Given the description of an element on the screen output the (x, y) to click on. 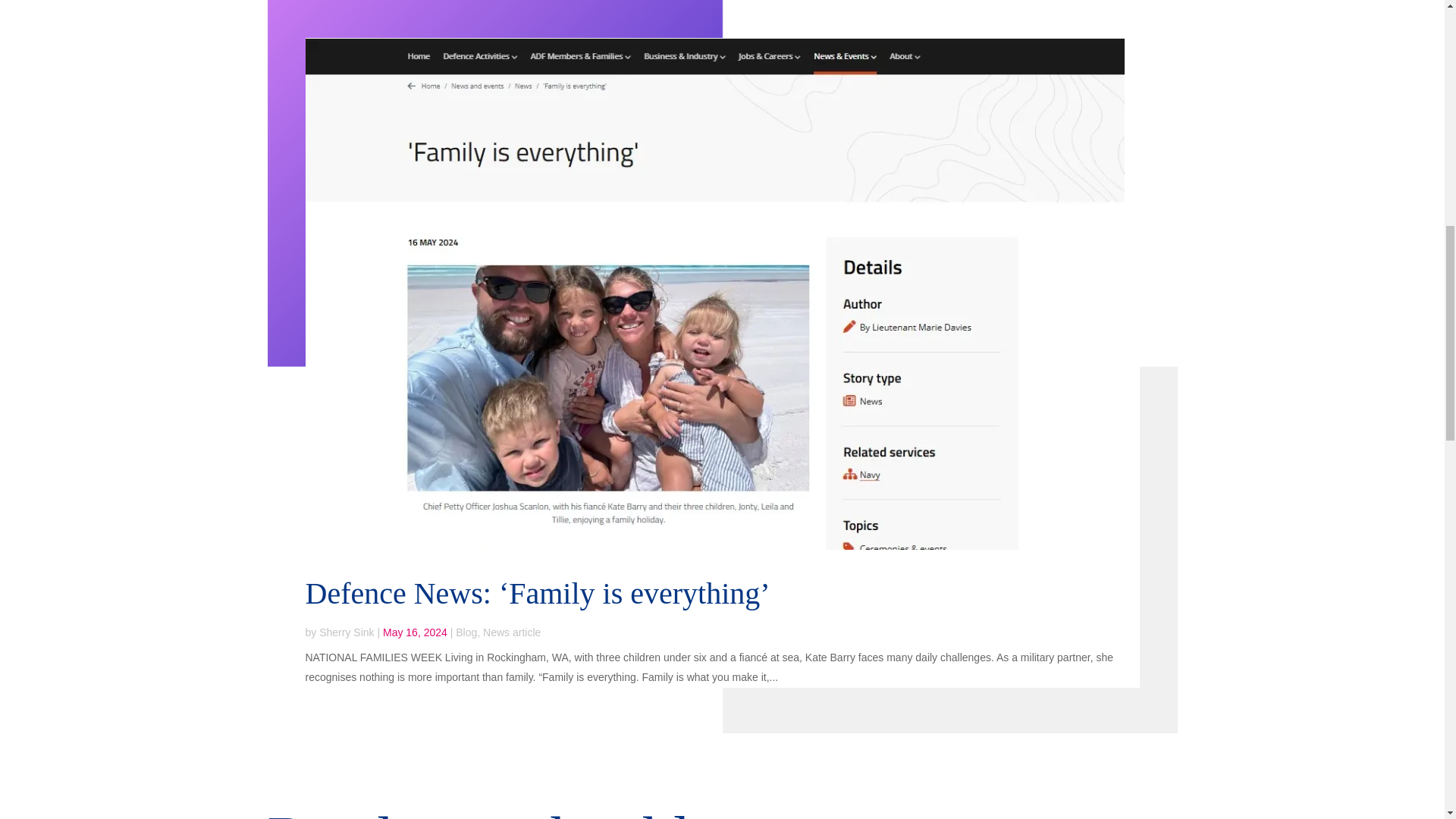
Blog (466, 632)
News article (511, 632)
Posts by Sherry Sink (346, 632)
Sherry Sink (346, 632)
